Given the description of an element on the screen output the (x, y) to click on. 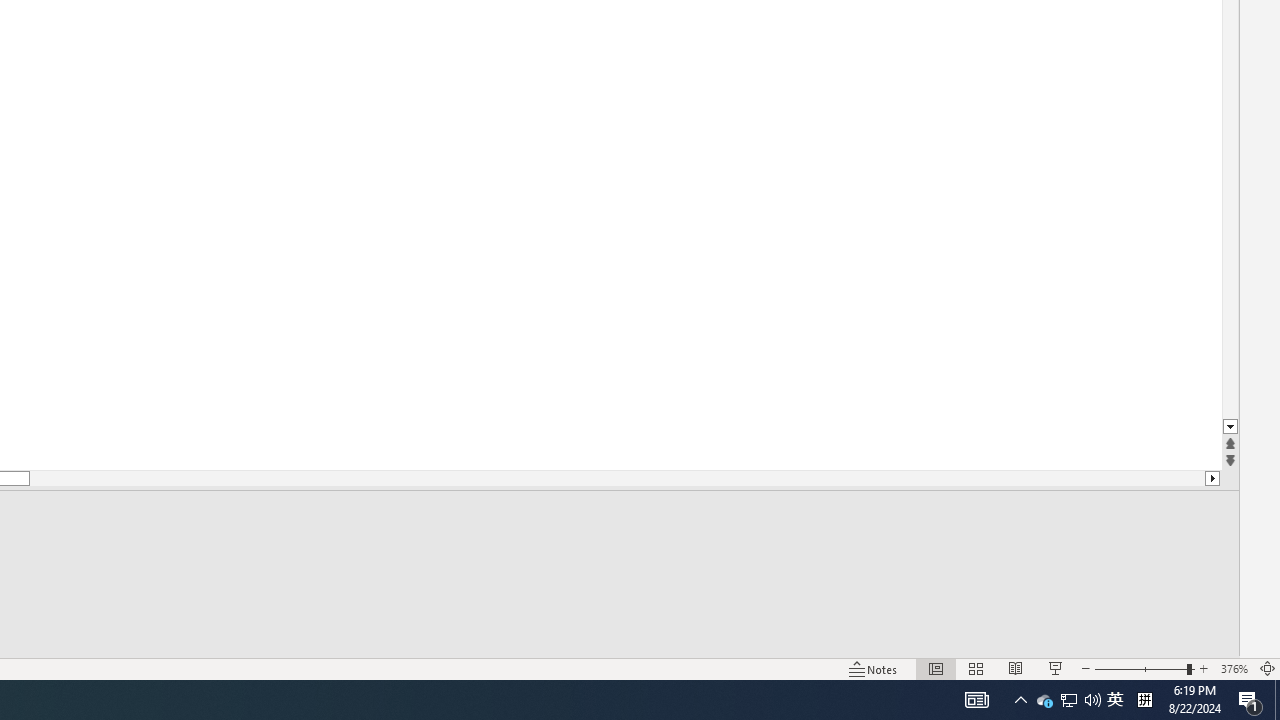
Zoom 376% (1234, 668)
